Given the description of an element on the screen output the (x, y) to click on. 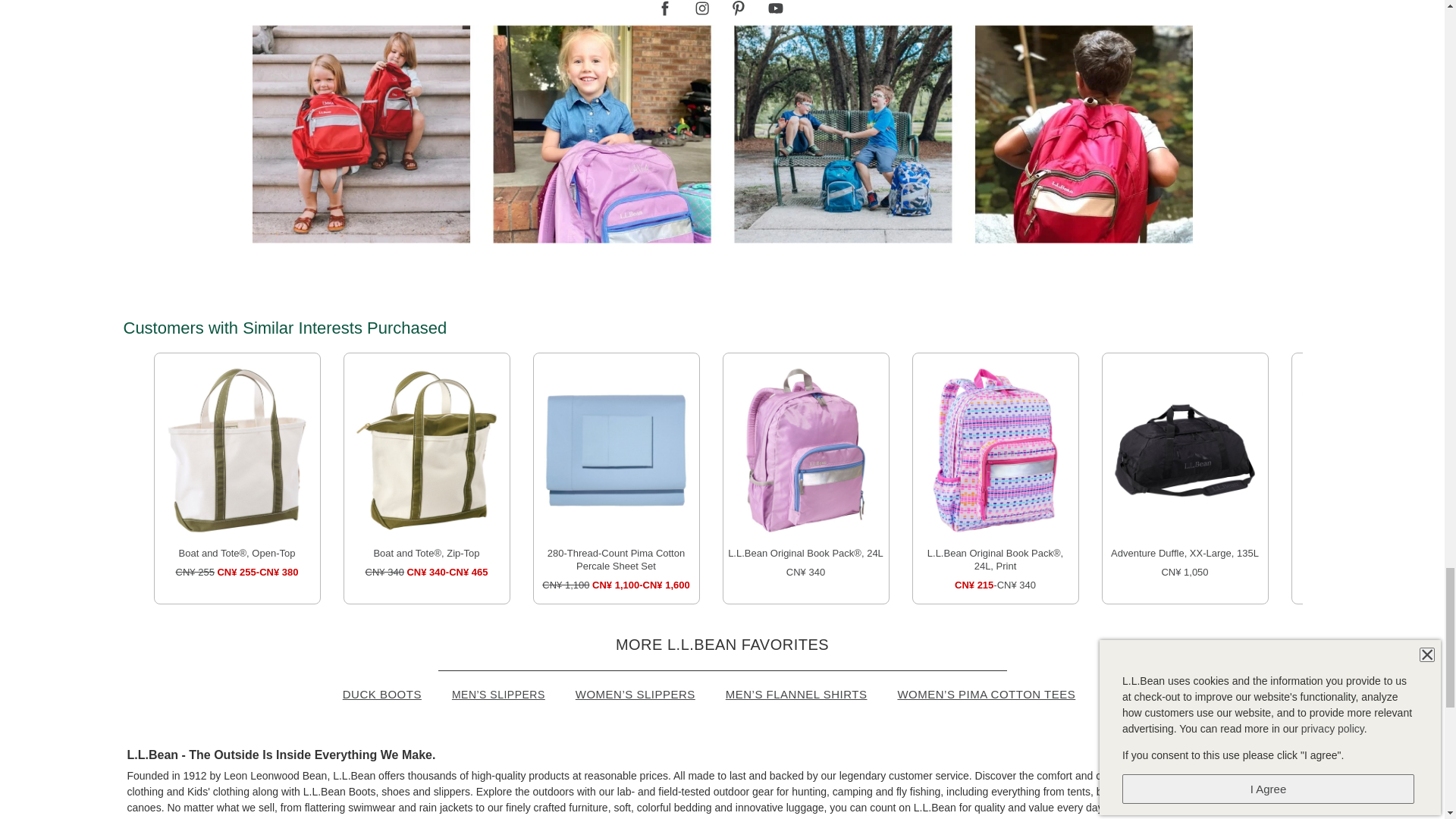
L.L.Bean on Pinterest (737, 7)
L.L.Bean on Pinterest (737, 7)
L.L.Bean on Instagram (702, 7)
L.L.Bean on Facebook (665, 7)
L.L.Bean on Facebook (665, 7)
L.L.Bean on Instagram (702, 7)
L.L.Bean on YouTube (775, 7)
Duck Boots (395, 693)
L.L.Bean on YouTube (775, 7)
